Given the description of an element on the screen output the (x, y) to click on. 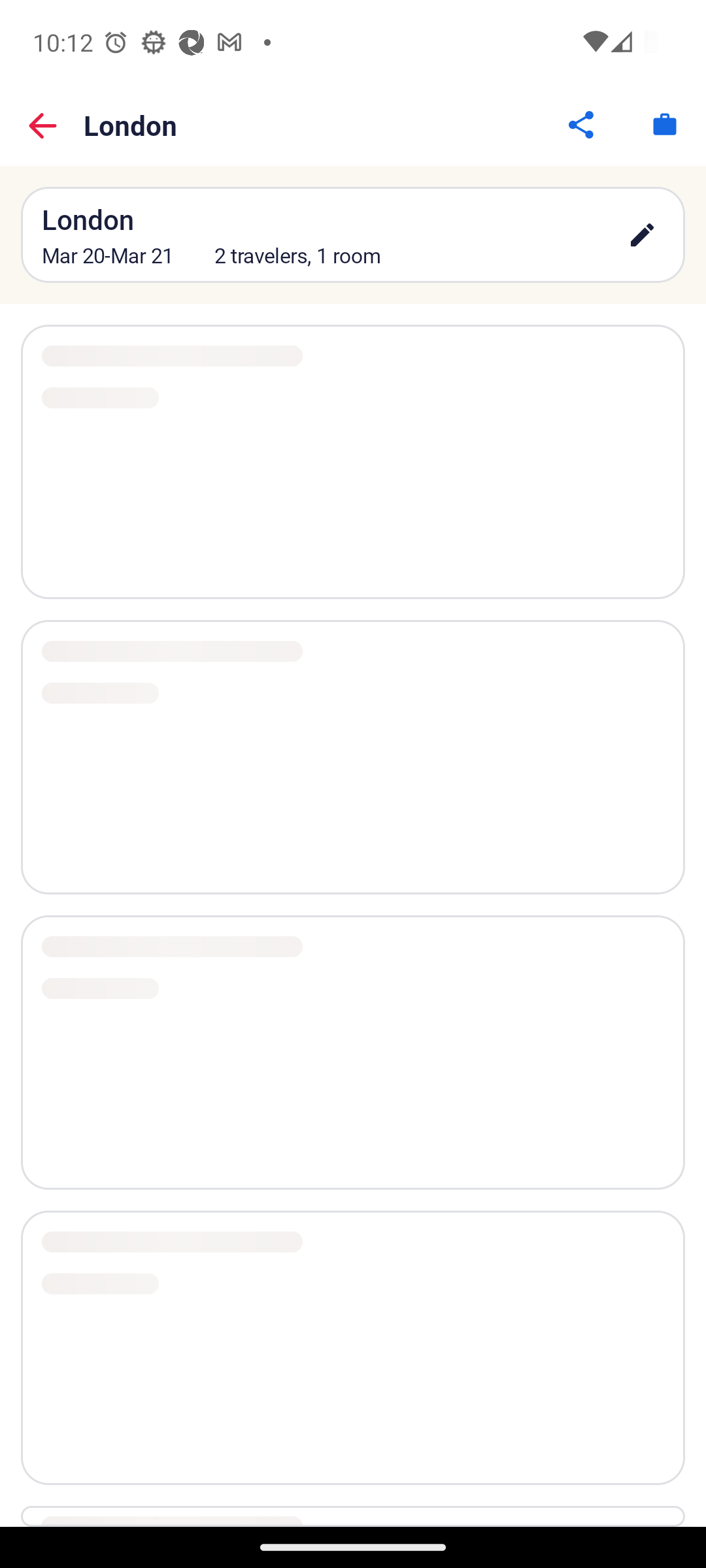
Share Button (582, 124)
Trips. Button (664, 124)
London Mar 20-Mar 21 2 travelers, 1 room edit (352, 234)
